Given the description of an element on the screen output the (x, y) to click on. 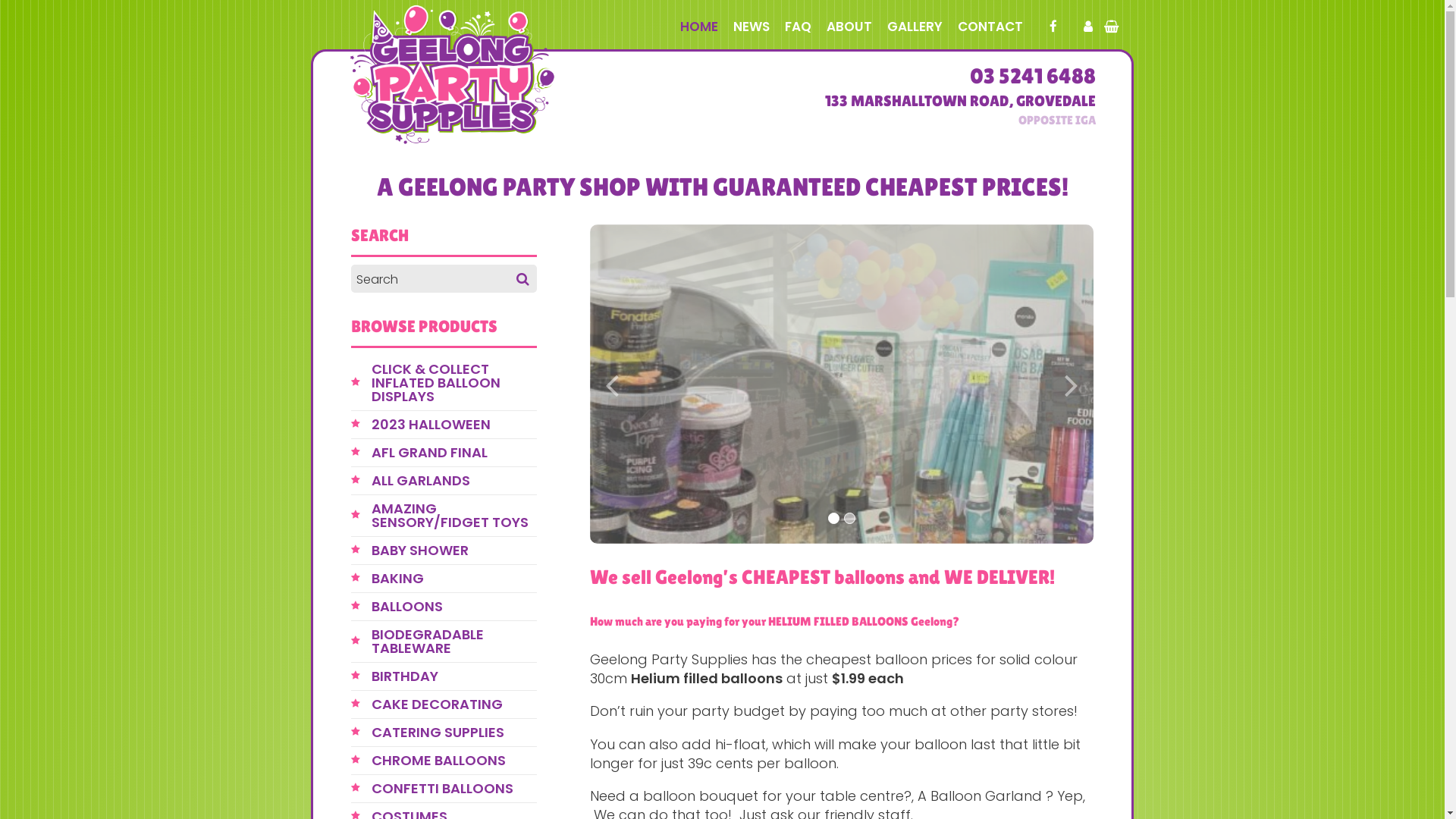
BAKING Element type: text (453, 578)
HOME Element type: text (699, 26)
View your shopping cart Element type: hover (1111, 26)
FAQ Element type: text (797, 26)
AFL GRAND FINAL Element type: text (453, 452)
CAKE DECORATING Element type: text (453, 704)
ABOUT Element type: text (849, 26)
2023 HALLOWEEN Element type: text (453, 424)
BIODEGRADABLE TABLEWARE Element type: text (453, 641)
BALLOONS Element type: text (453, 606)
CLICK & COLLECT INFLATED BALLOON DISPLAYS Element type: text (453, 382)
CONFETTI BALLOONS Element type: text (453, 788)
GALLERY Element type: text (914, 26)
AMAZING SENSORY/FIDGET TOYS Element type: text (453, 515)
CONTACT Element type: text (989, 26)
Search for: Element type: hover (443, 278)
BABY SHOWER Element type: text (453, 550)
CHROME BALLOONS Element type: text (453, 760)
BIRTHDAY Element type: text (453, 676)
CATERING SUPPLIES Element type: text (453, 732)
ALL GARLANDS Element type: text (453, 480)
NEWS Element type: text (751, 26)
